Given the description of an element on the screen output the (x, y) to click on. 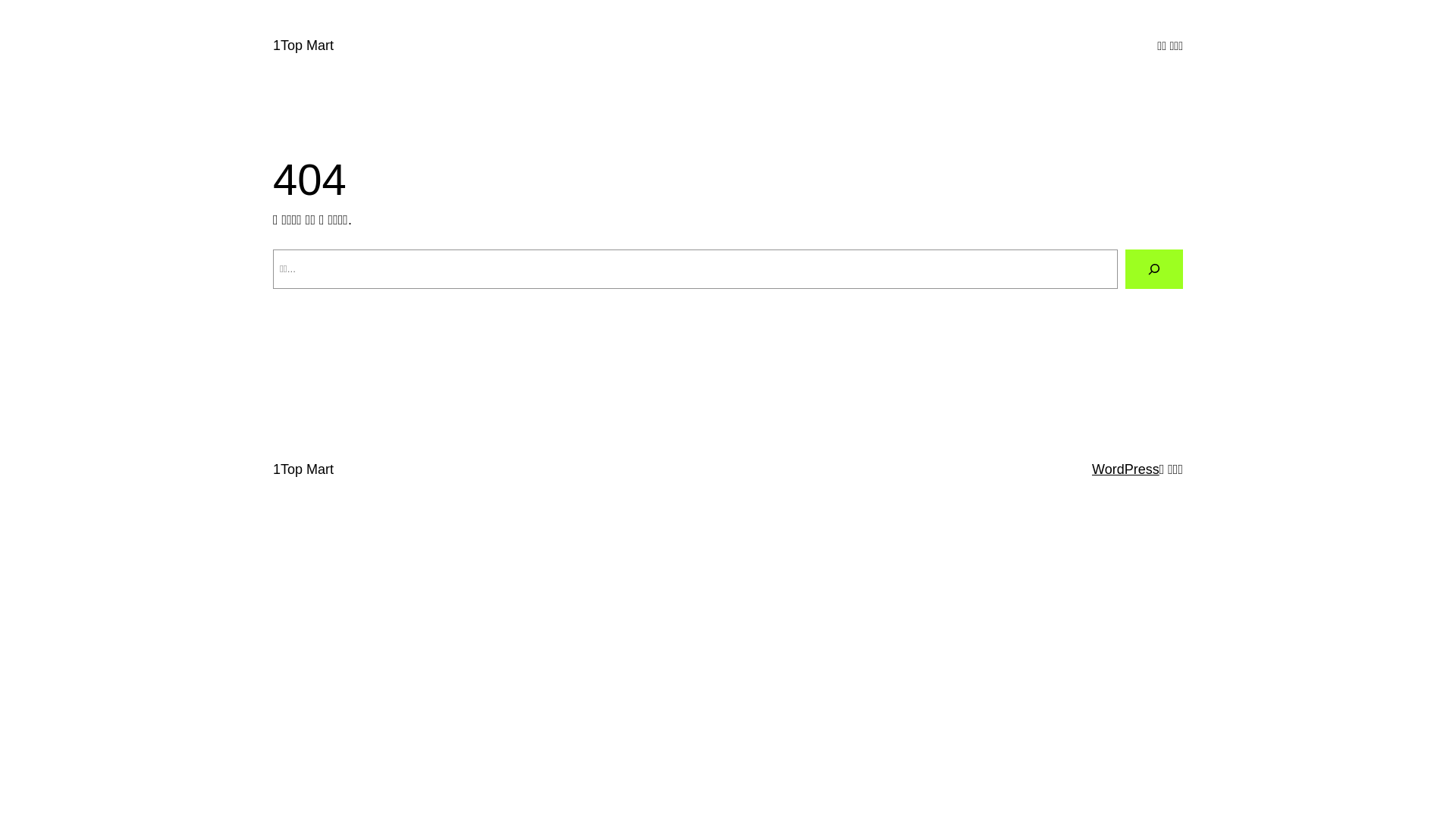
WordPress Element type: text (1125, 468)
1Top Mart Element type: text (303, 45)
1Top Mart Element type: text (303, 468)
